Given the description of an element on the screen output the (x, y) to click on. 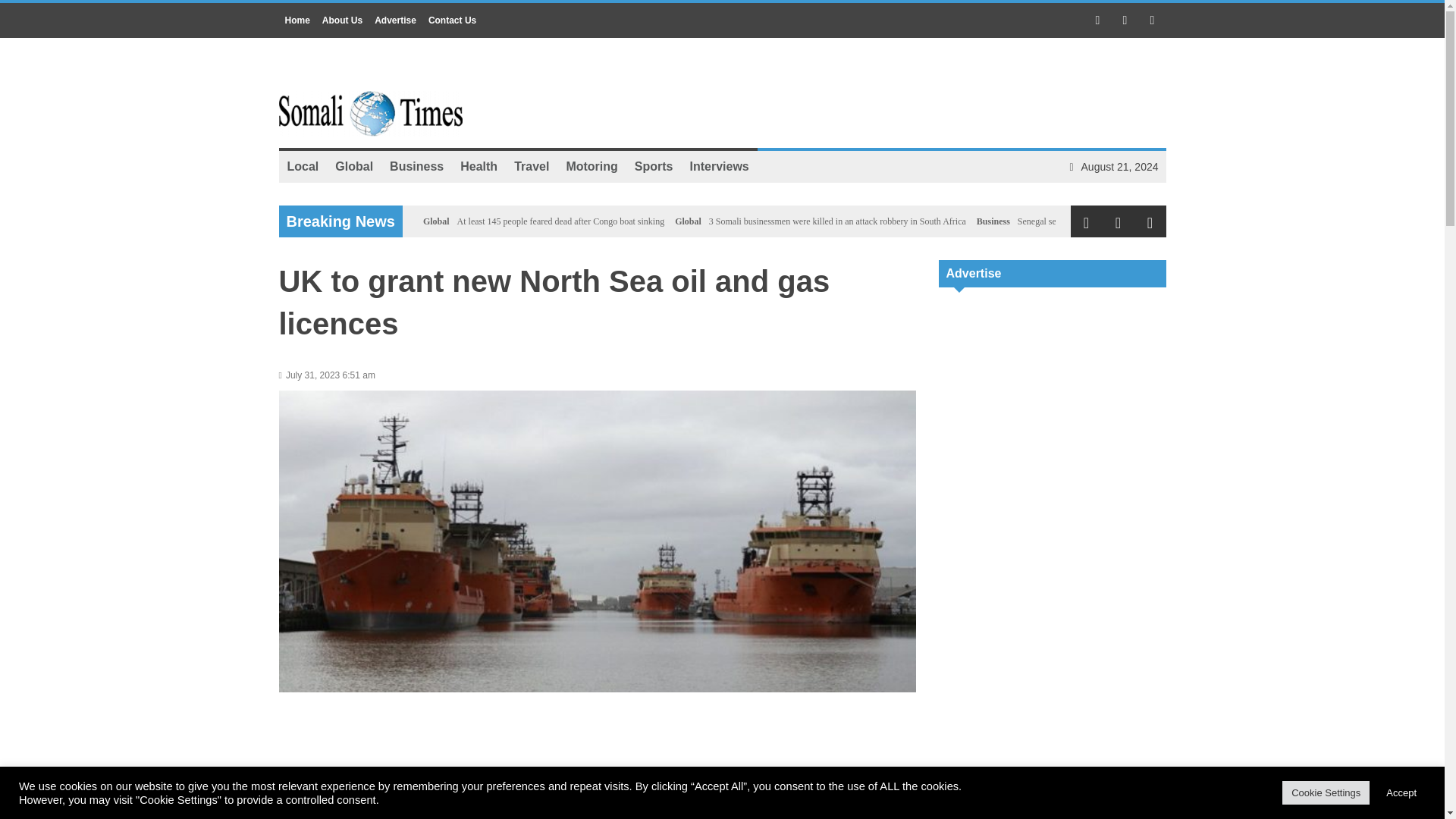
Advertisement (890, 94)
Global (436, 221)
Health (478, 166)
Global (353, 166)
Home (297, 20)
Advertise (395, 20)
Global (688, 221)
Motoring (591, 166)
About Us (341, 20)
